Given the description of an element on the screen output the (x, y) to click on. 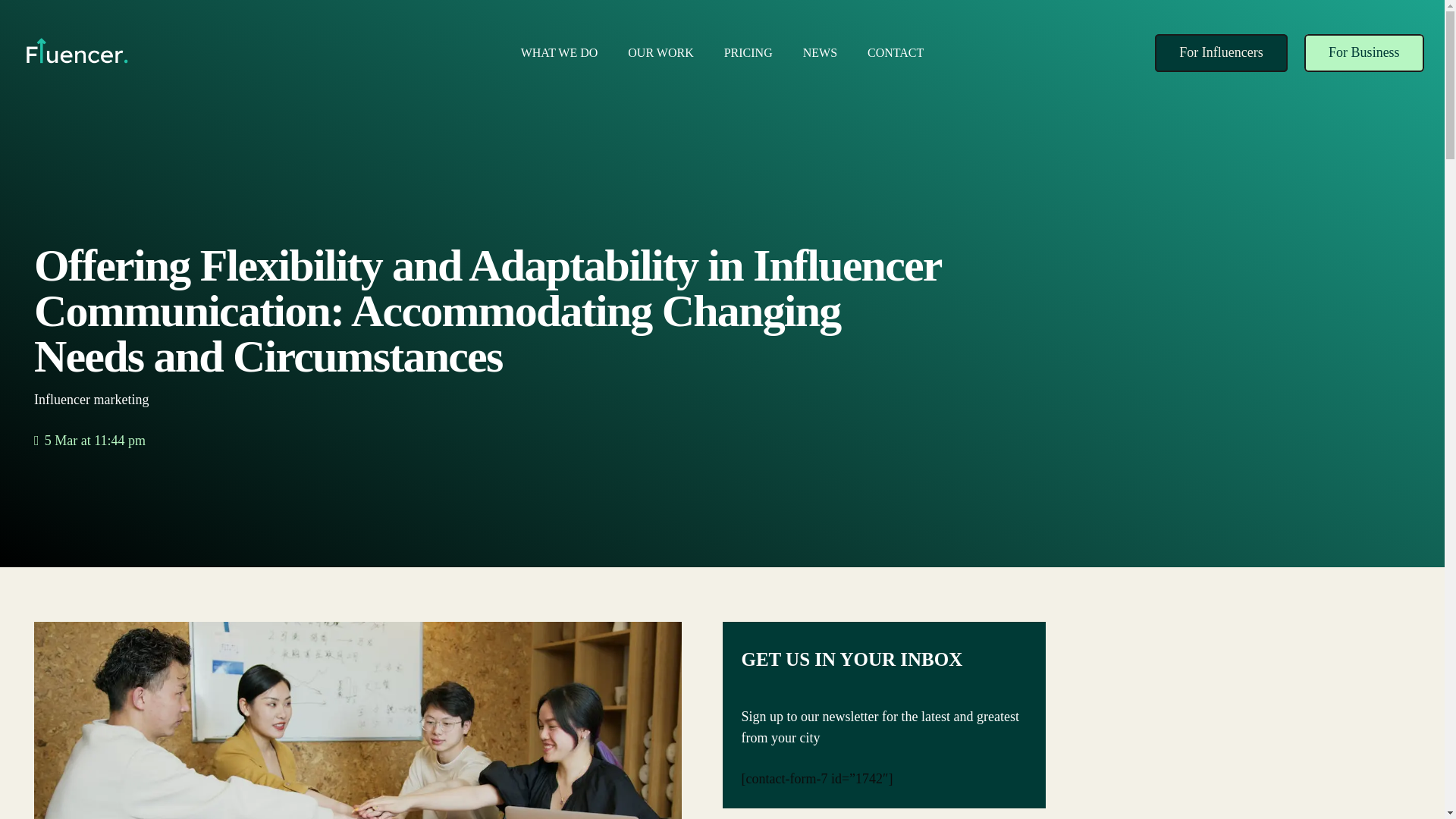
CONTACT (895, 53)
For Business (1363, 53)
WHAT WE DO (558, 53)
NEWS (819, 53)
OUR WORK (659, 53)
Influencer marketing (90, 399)
PRICING (748, 53)
For Influencers (1220, 53)
